Given the description of an element on the screen output the (x, y) to click on. 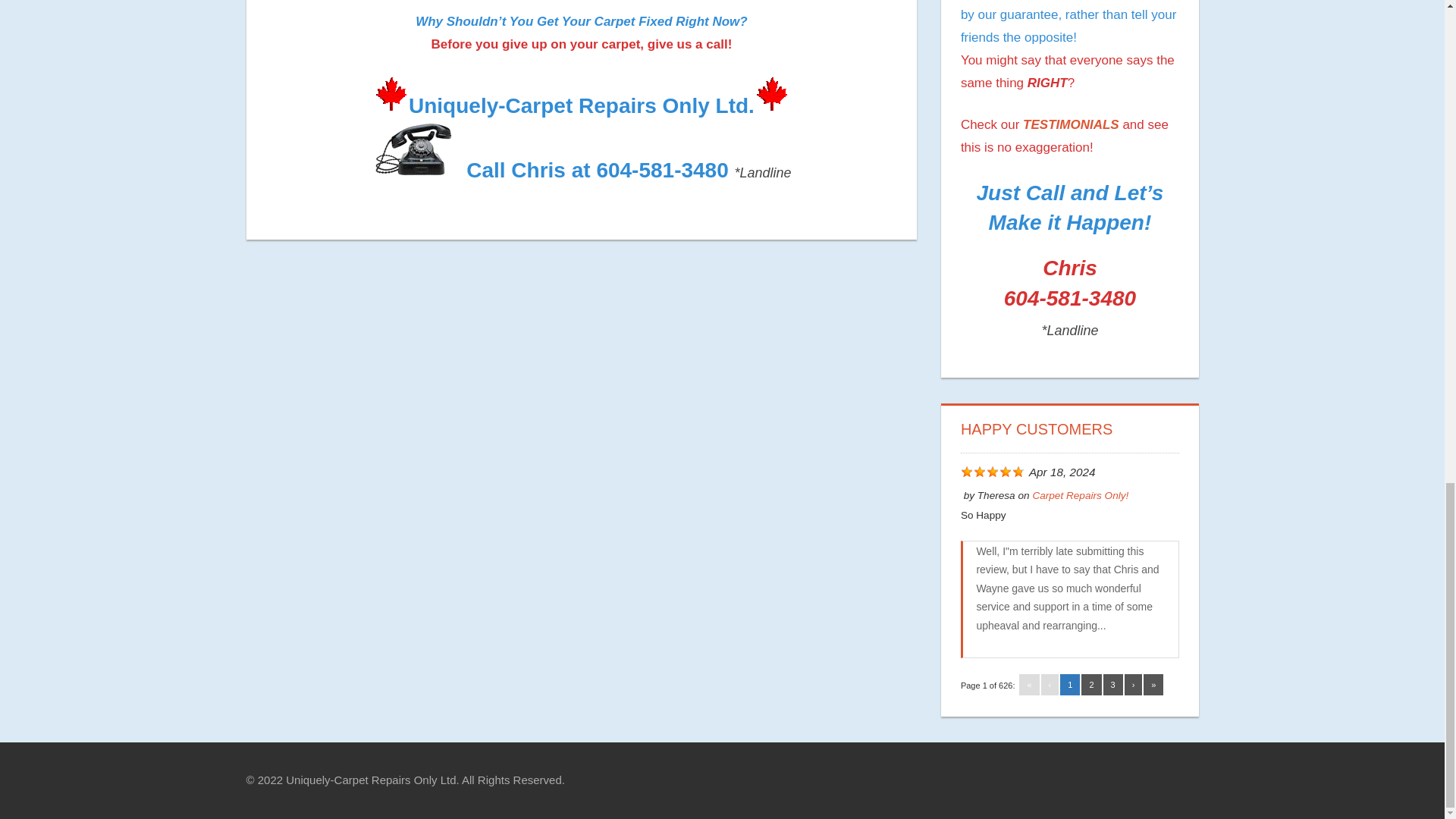
Carpet Repairs Only! (1080, 495)
TESTIMONIALS (1071, 124)
